Given the description of an element on the screen output the (x, y) to click on. 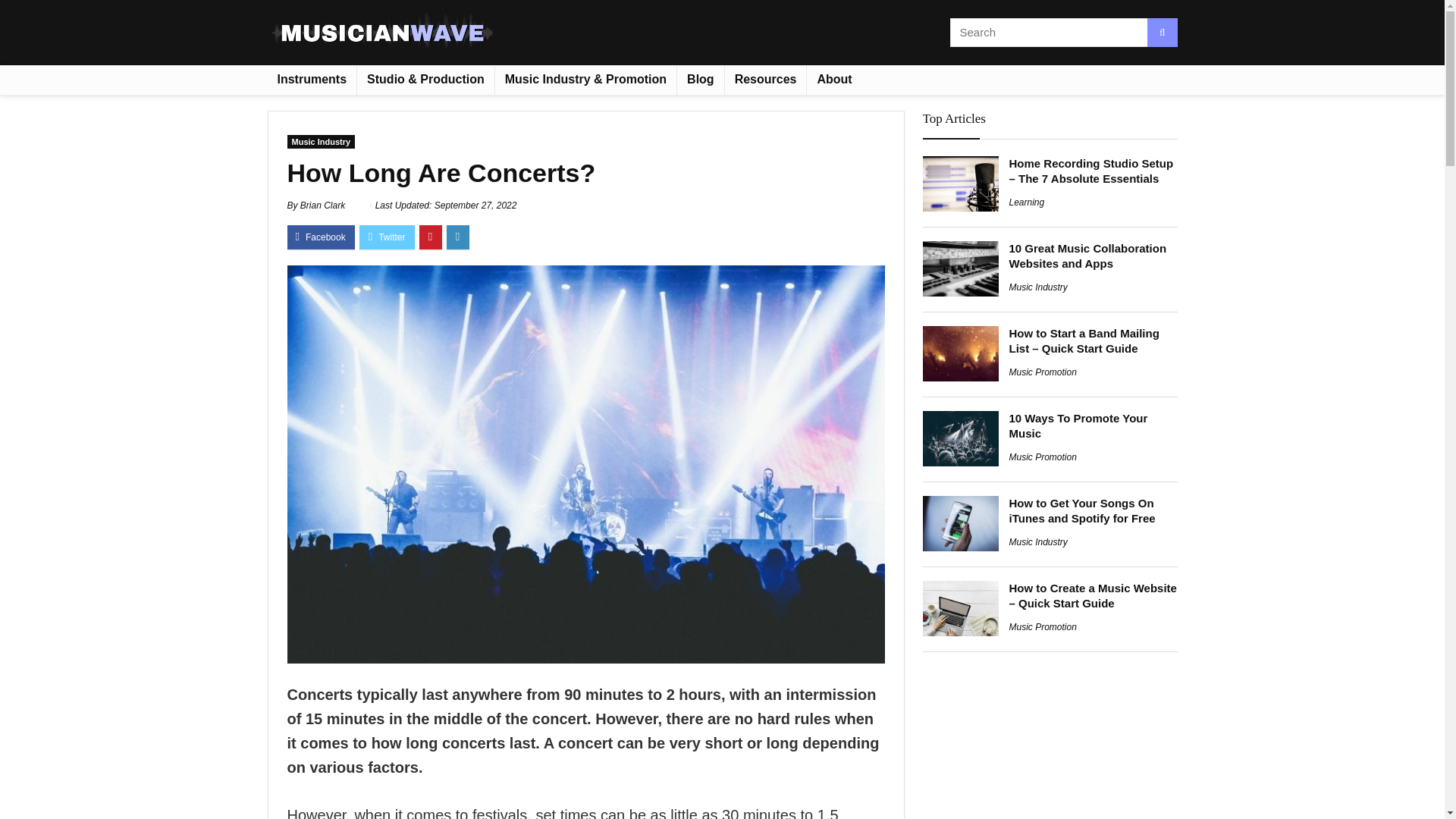
About (833, 79)
Resources (765, 79)
View all posts in Music Industry (320, 141)
10 Great Music Collaboration Websites and Apps (1087, 255)
Blog (700, 79)
Music Industry (1038, 286)
Music Promotion (1042, 371)
Learning (1026, 202)
Music Industry (320, 141)
Instruments (311, 79)
